Given the description of an element on the screen output the (x, y) to click on. 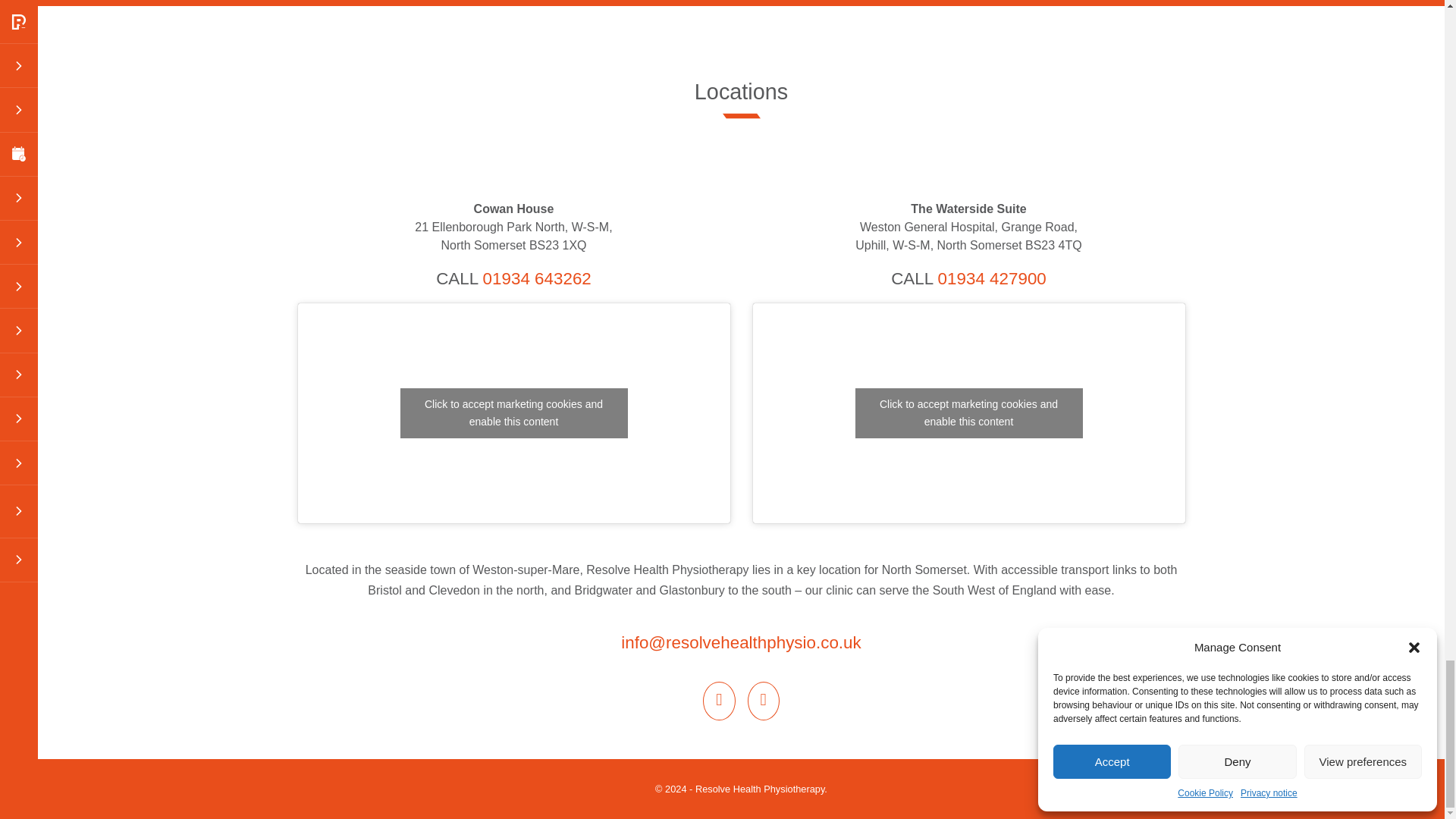
Shift-click to edit this widget. (741, 789)
